Given the description of an element on the screen output the (x, y) to click on. 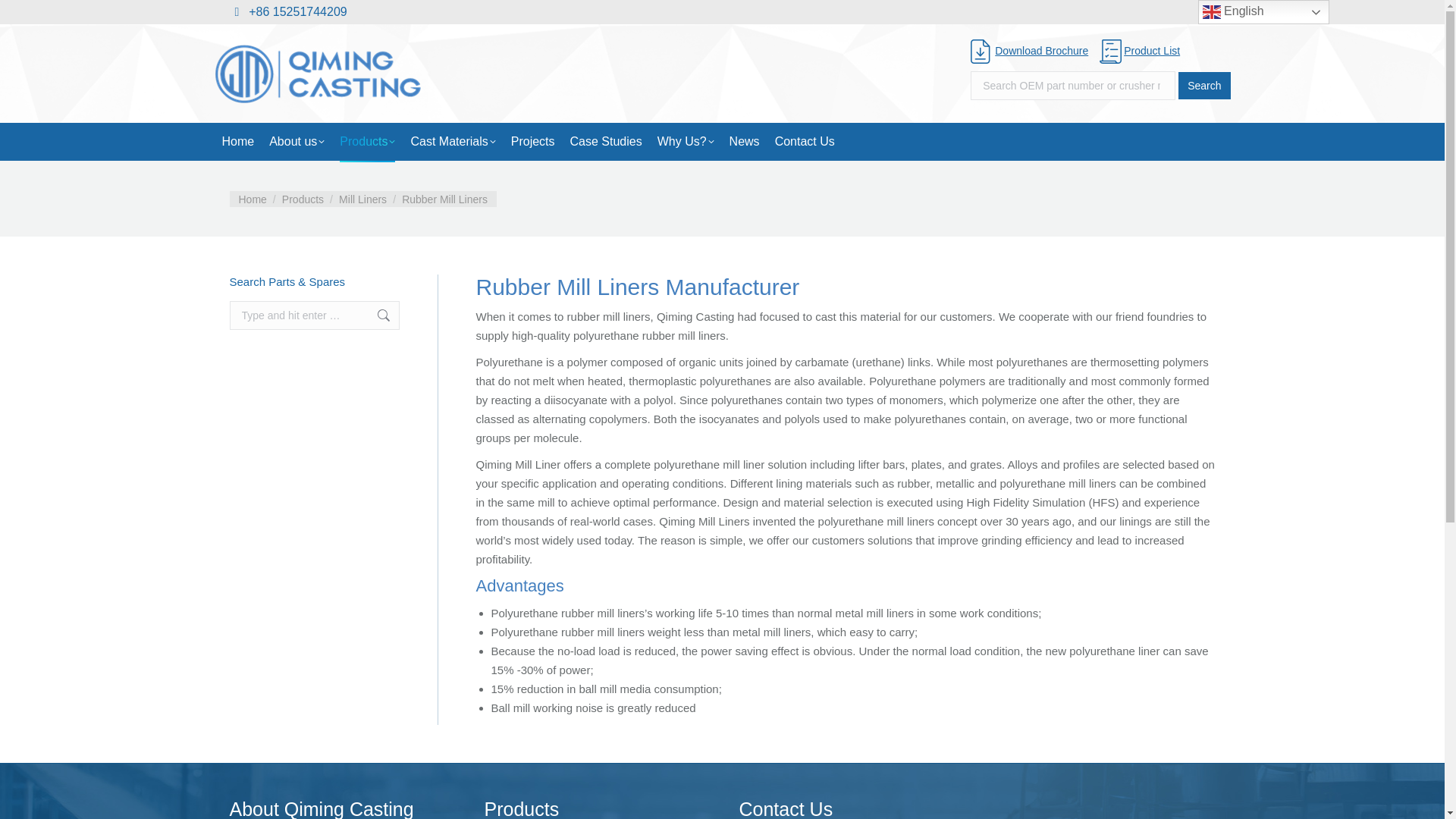
Search (1203, 85)
Products (367, 141)
Mill Liners (363, 198)
Home (252, 198)
Products (302, 198)
Cast Materials (452, 141)
Go! (376, 315)
Go! (376, 315)
Download Brochure (1029, 50)
Product List (1139, 50)
